Given the description of an element on the screen output the (x, y) to click on. 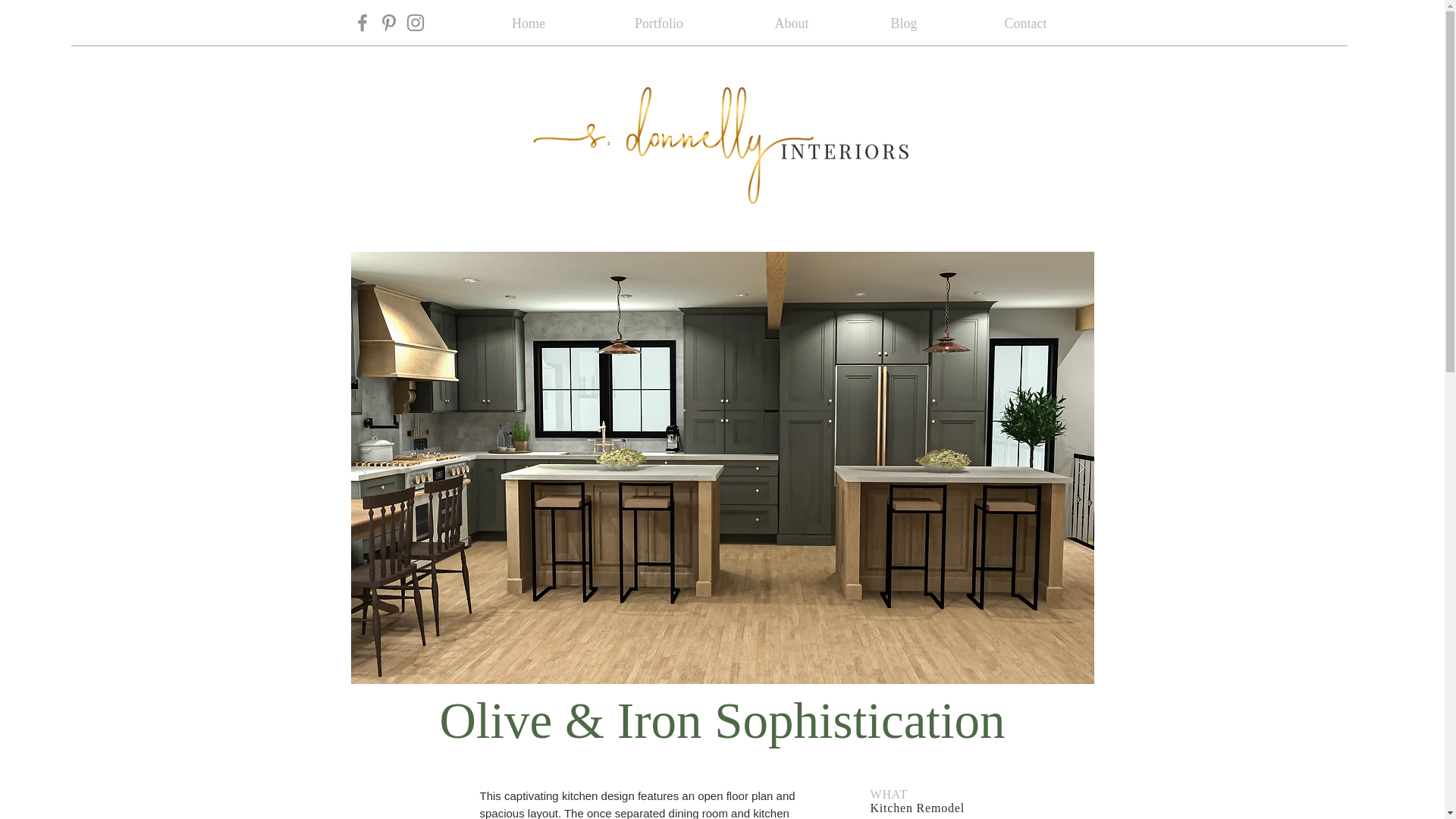
Contact (1024, 23)
About (791, 23)
Portfolio (659, 23)
Home (528, 23)
Blog (904, 23)
